Given the description of an element on the screen output the (x, y) to click on. 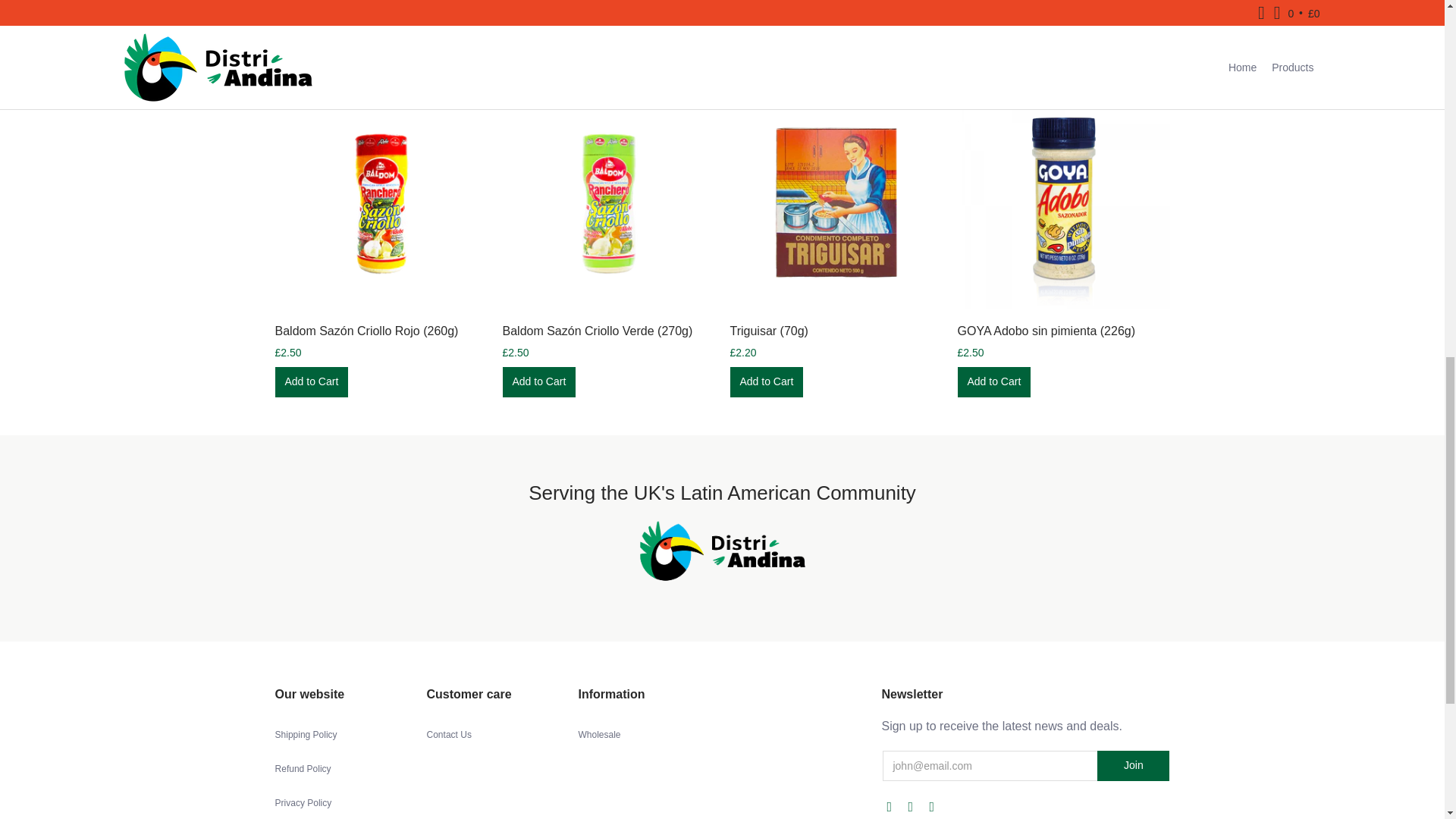
Join (1133, 766)
Add to Cart (766, 381)
Add to Cart (993, 381)
Add to Cart (538, 381)
Add to Cart (311, 381)
Add to Cart (311, 381)
